Given the description of an element on the screen output the (x, y) to click on. 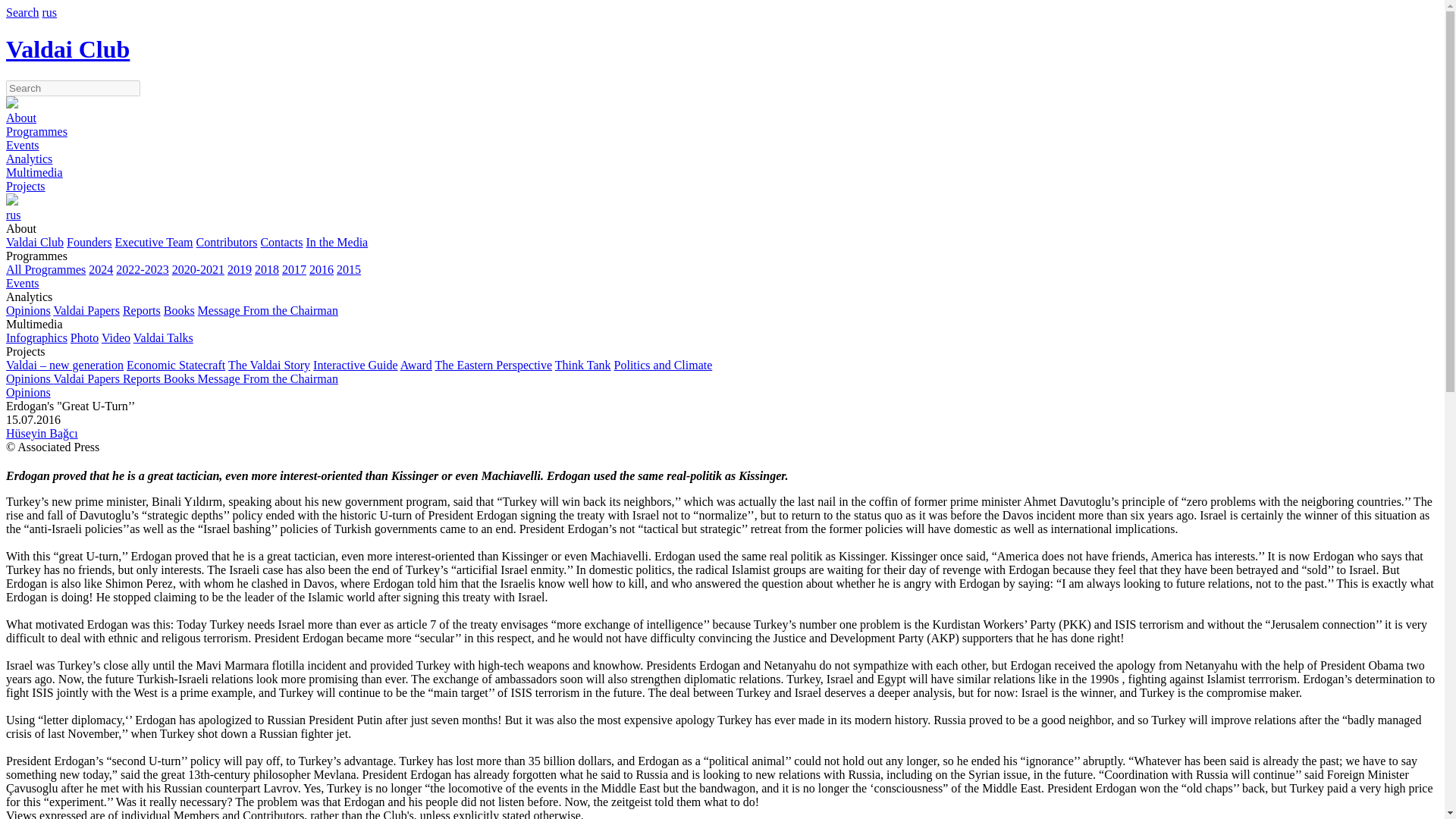
2017 (293, 269)
Opinions (27, 309)
Valdai Club (34, 241)
2016 (320, 269)
rus (50, 11)
2022-2023 (142, 269)
Reports (141, 309)
2018 (266, 269)
All Programmes (45, 269)
Books (179, 309)
2015 (348, 269)
Message From the Chairman (267, 309)
Valdai Papers (85, 309)
Contributors (226, 241)
Founders (89, 241)
